Given the description of an element on the screen output the (x, y) to click on. 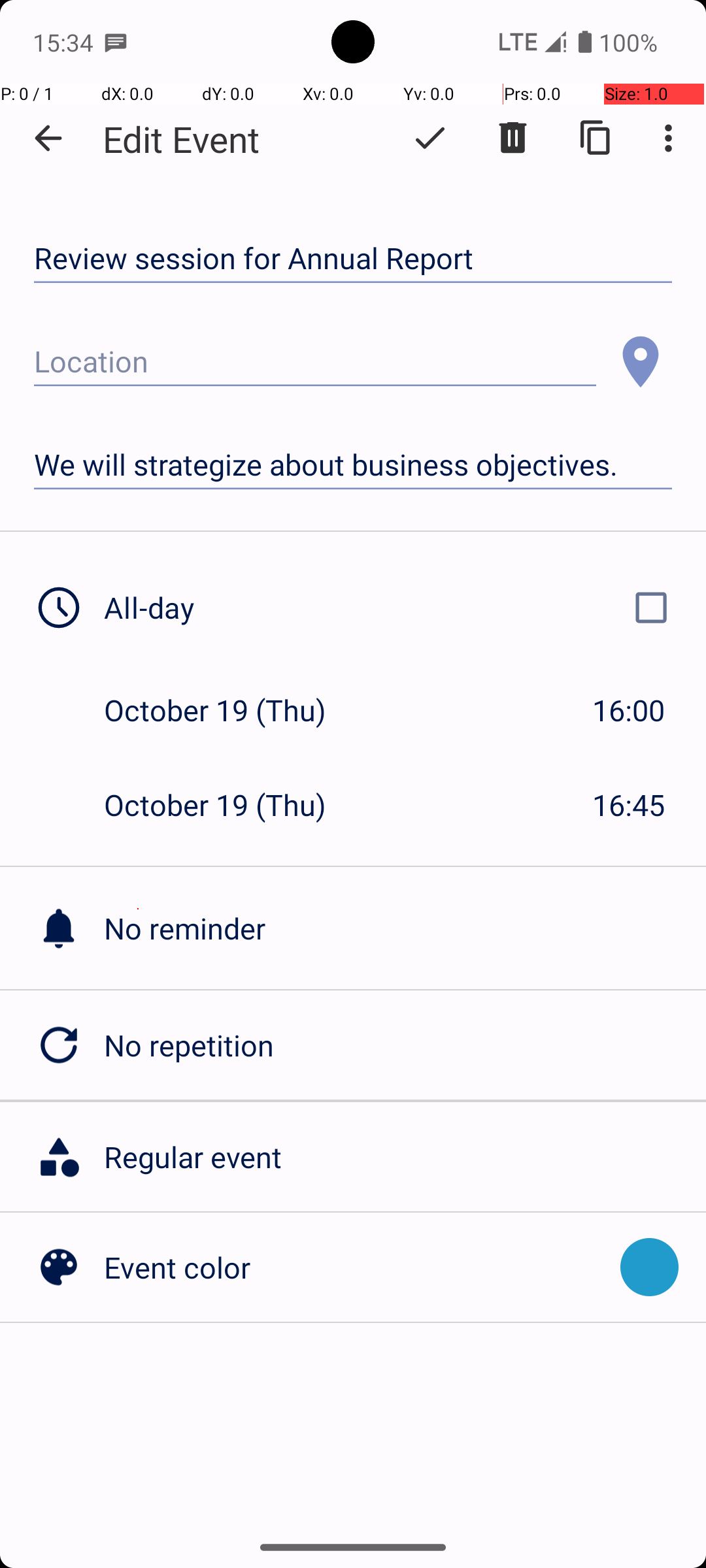
We will strategize about business objectives. Element type: android.widget.EditText (352, 465)
October 19 (Thu) Element type: android.widget.TextView (228, 709)
16:45 Element type: android.widget.TextView (628, 804)
